Given the description of an element on the screen output the (x, y) to click on. 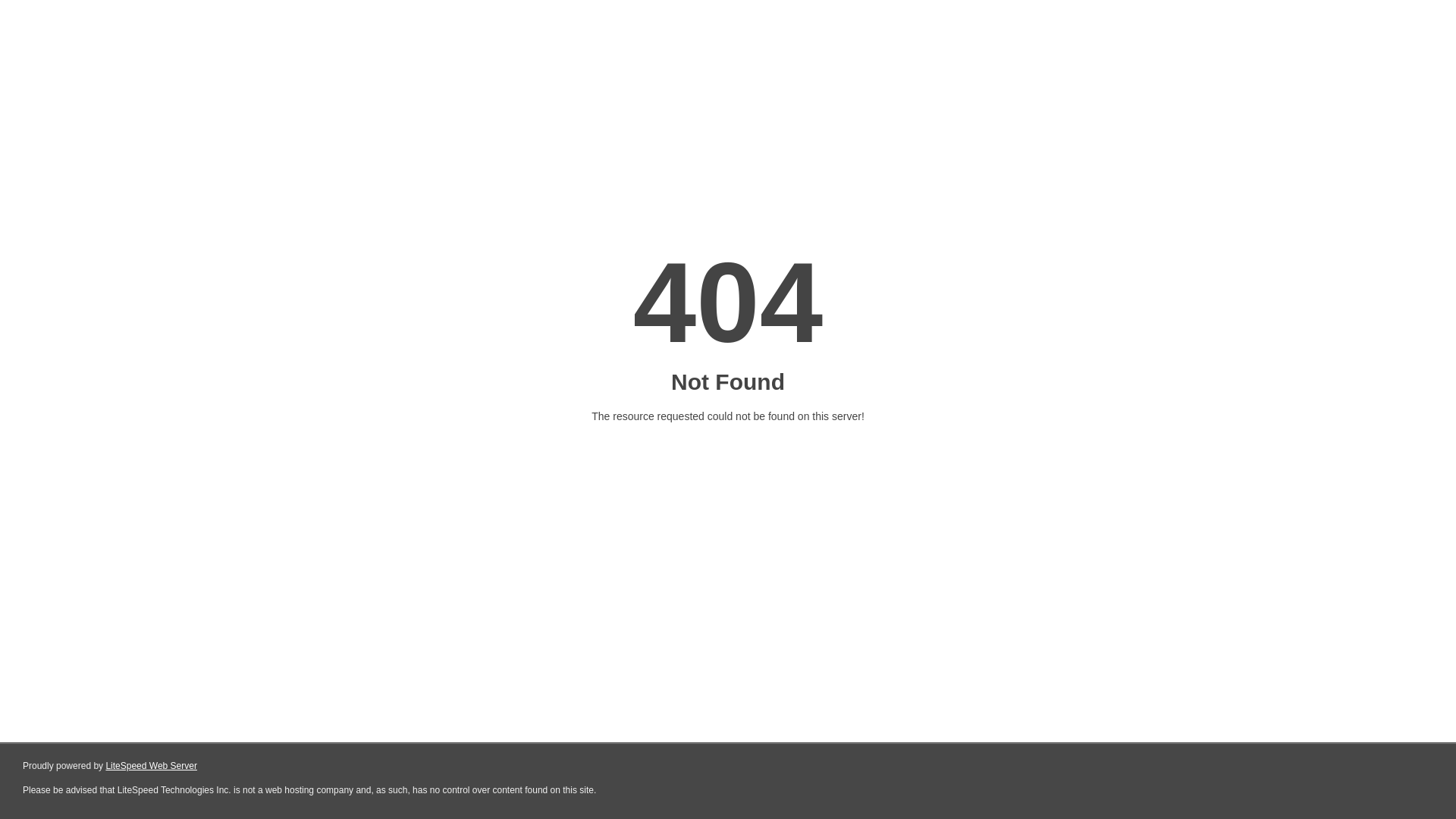
LiteSpeed Web Server Element type: text (151, 765)
